Given the description of an element on the screen output the (x, y) to click on. 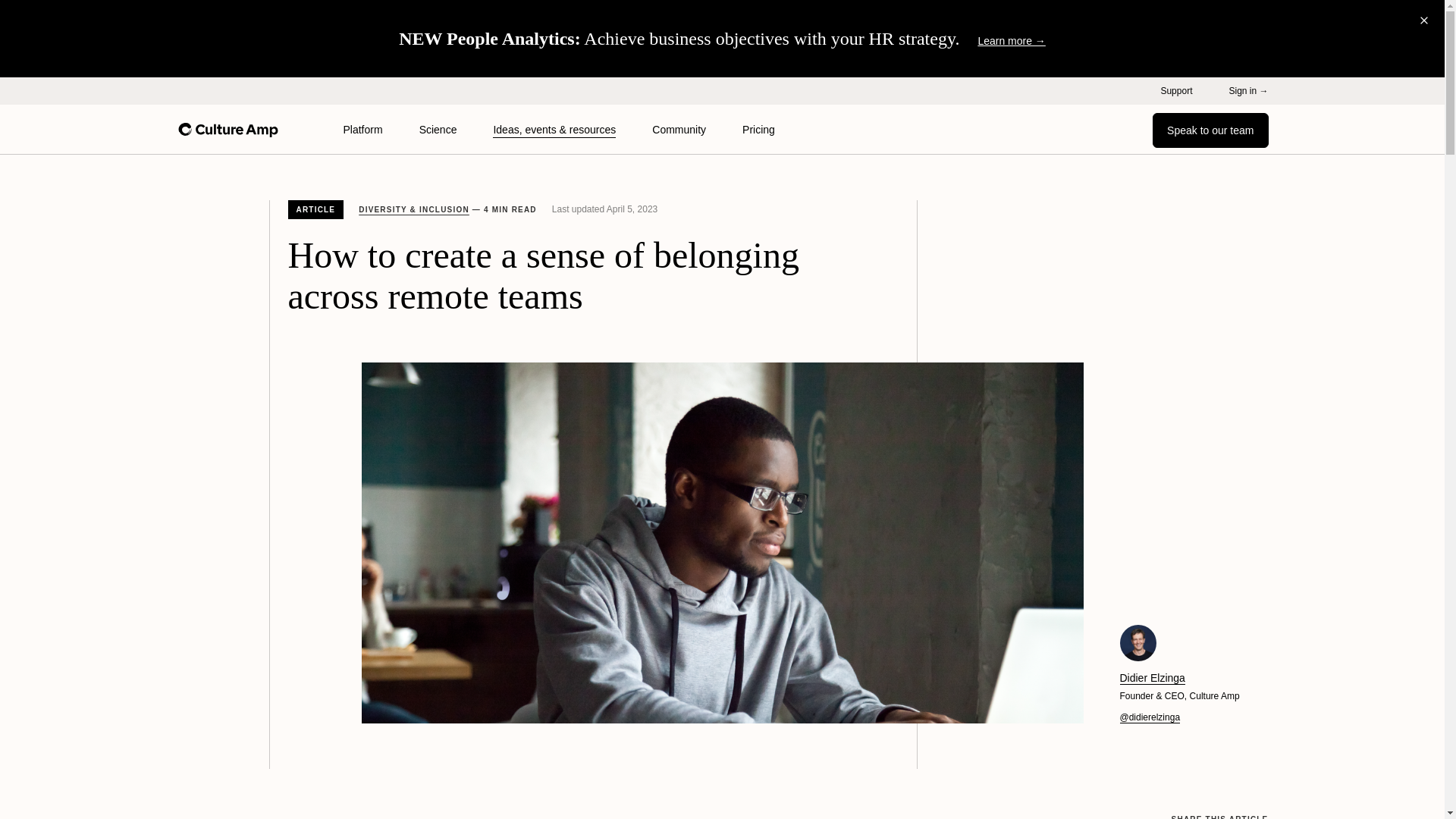
Support (1176, 90)
Platform (362, 129)
Science (438, 129)
